Given the description of an element on the screen output the (x, y) to click on. 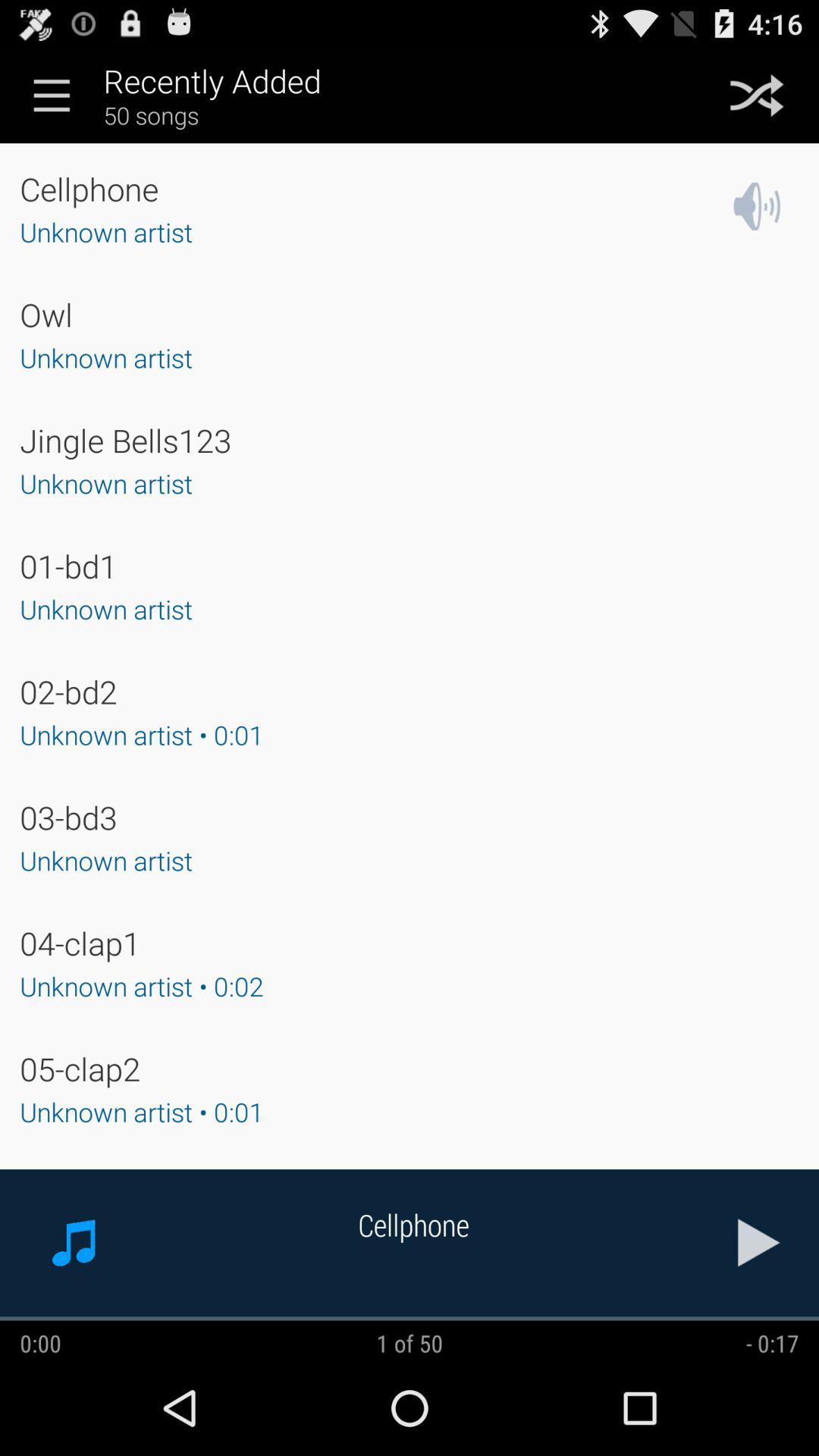
play button (759, 1242)
